Given the description of an element on the screen output the (x, y) to click on. 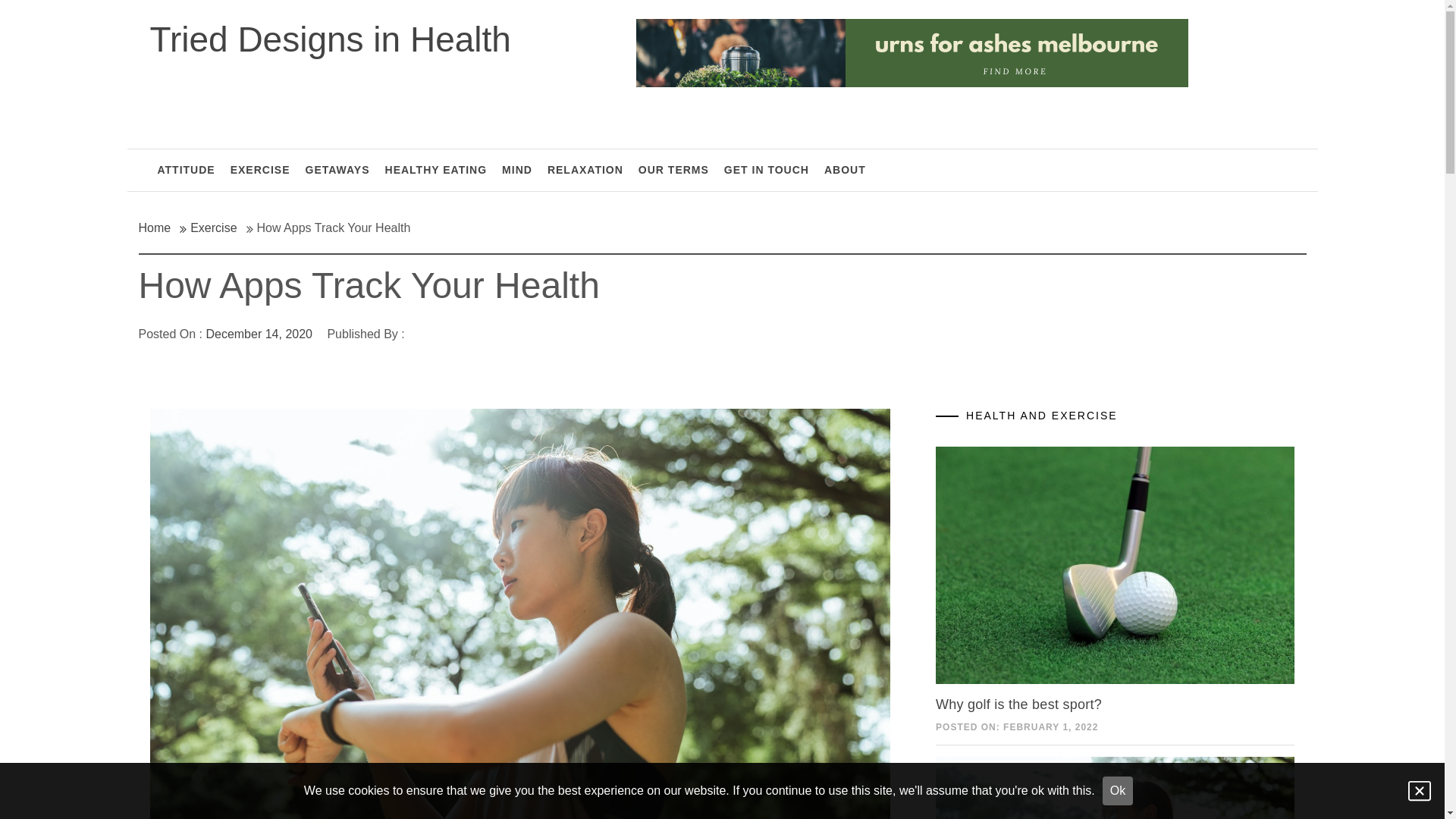
Exercise Element type: text (212, 227)
Home Element type: text (158, 227)
ABOUT Element type: text (844, 170)
OUR TERMS Element type: text (673, 170)
ATTITUDE Element type: text (186, 170)
RELAXATION Element type: text (584, 170)
GET IN TOUCH Element type: text (766, 170)
MIND Element type: text (516, 170)
EXERCISE Element type: text (260, 170)
HEALTHY EATING Element type: text (436, 170)
Ok Element type: text (1117, 790)
December 14, 2020 Element type: text (258, 333)
Why golf is the best sport? Element type: text (1018, 704)
GETAWAYS Element type: text (336, 170)
Tried Designs in Health Element type: text (330, 39)
